Given the description of an element on the screen output the (x, y) to click on. 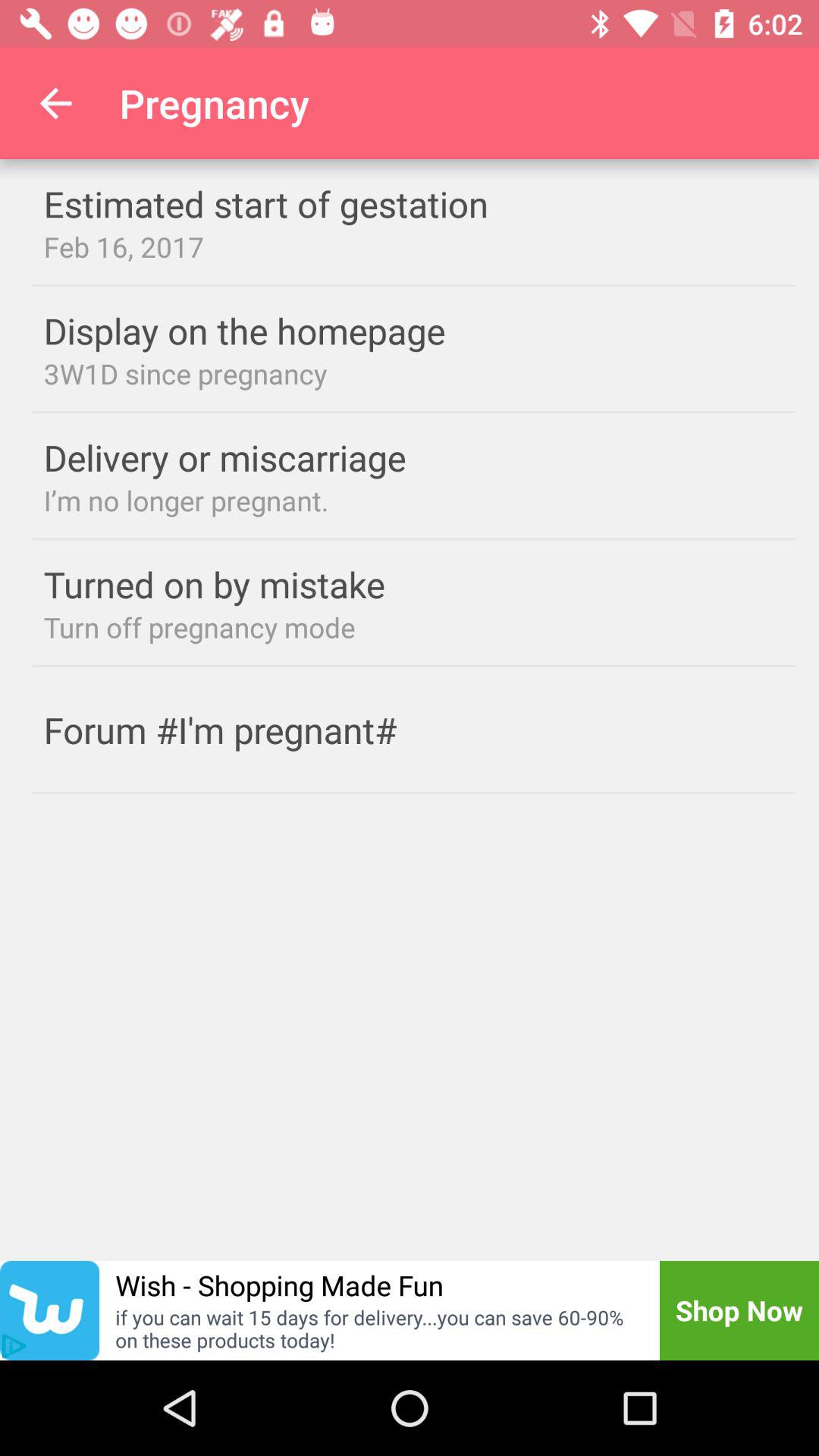
turn off the wish shopping made item (279, 1285)
